Given the description of an element on the screen output the (x, y) to click on. 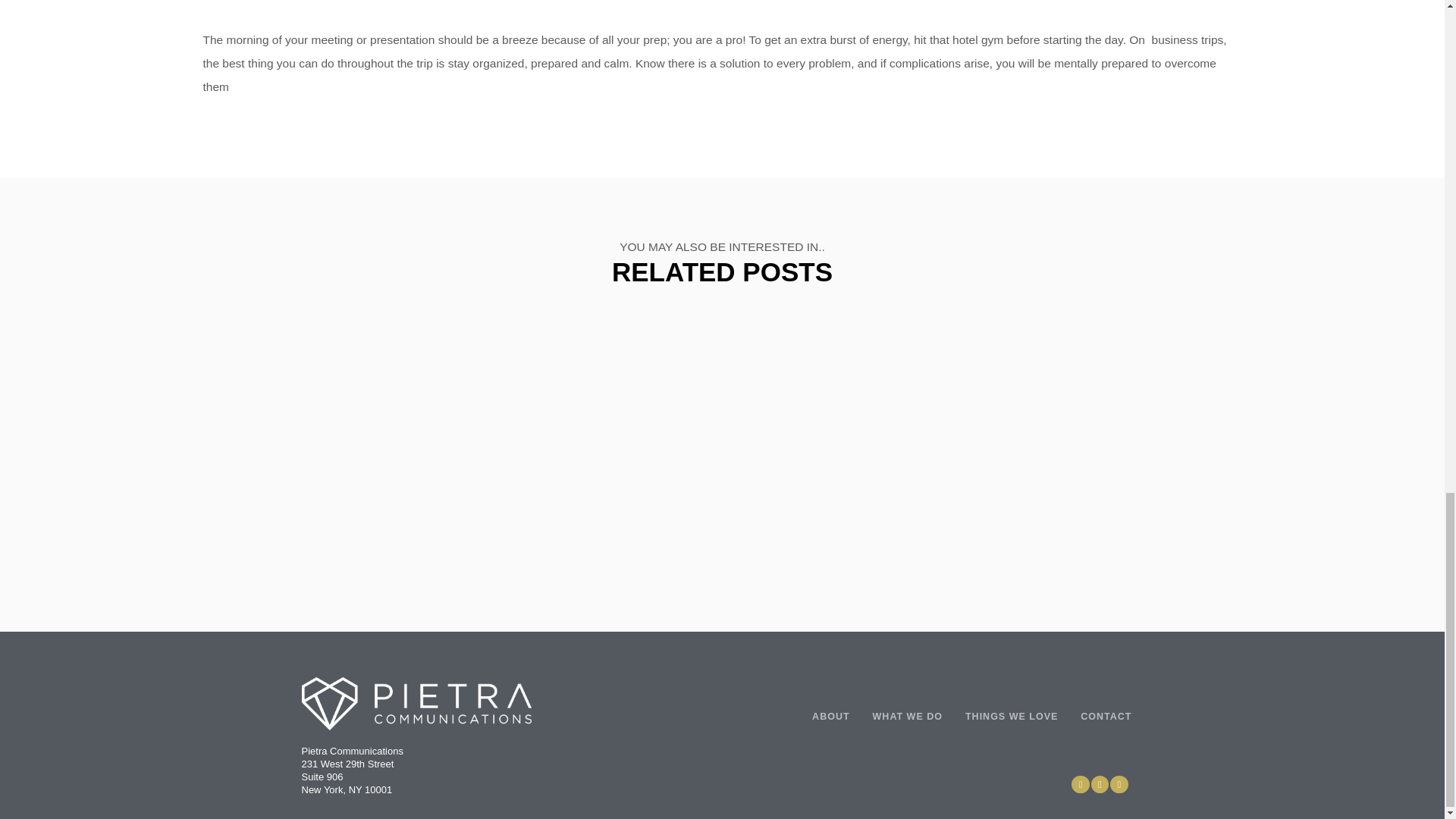
ABOUT (830, 716)
THINGS WE LOVE (1010, 716)
WHAT WE DO (907, 716)
CONTACT (1105, 716)
